Given the description of an element on the screen output the (x, y) to click on. 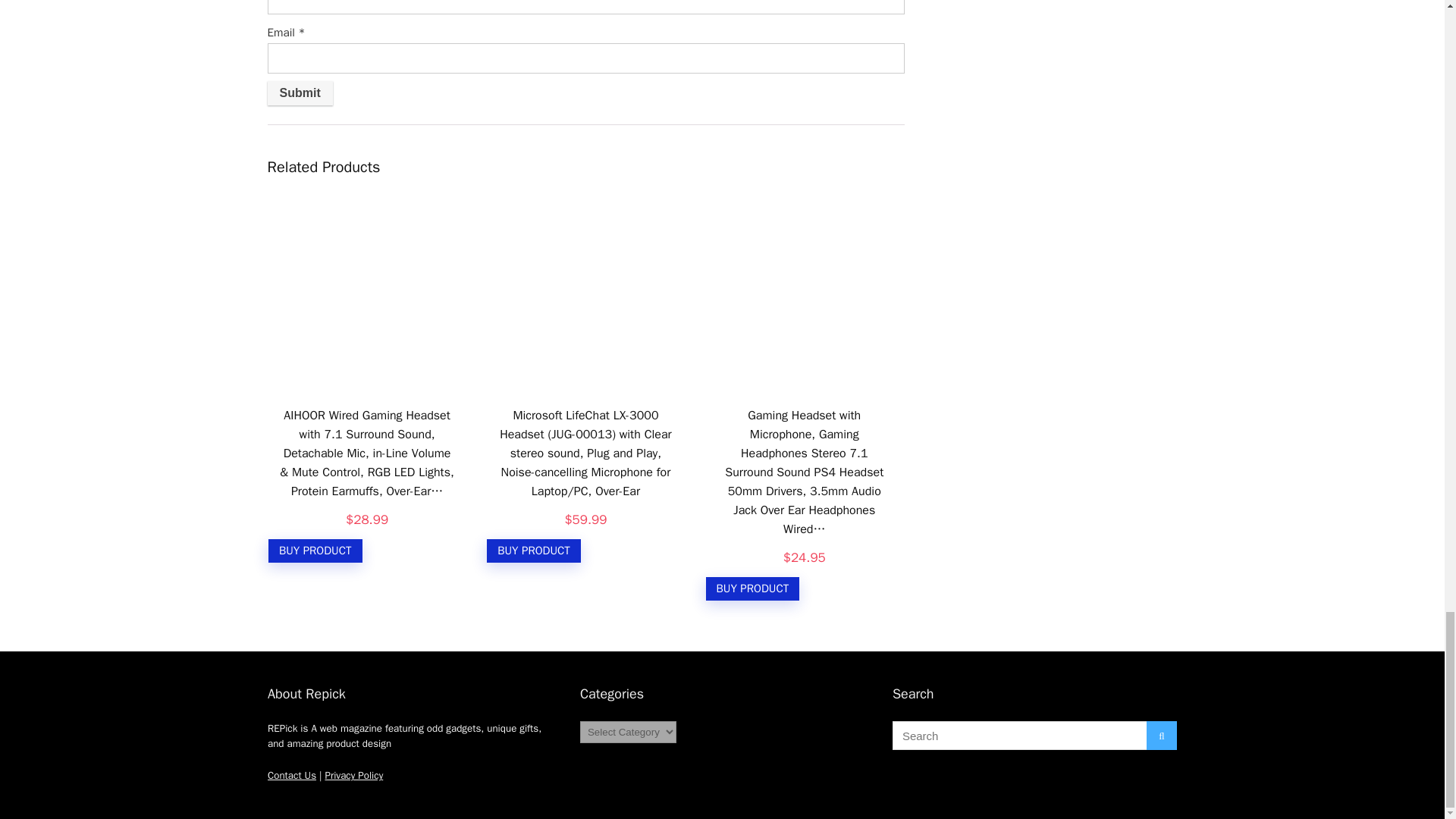
Submit (298, 93)
BUY PRODUCT (314, 550)
Submit (298, 93)
